Given the description of an element on the screen output the (x, y) to click on. 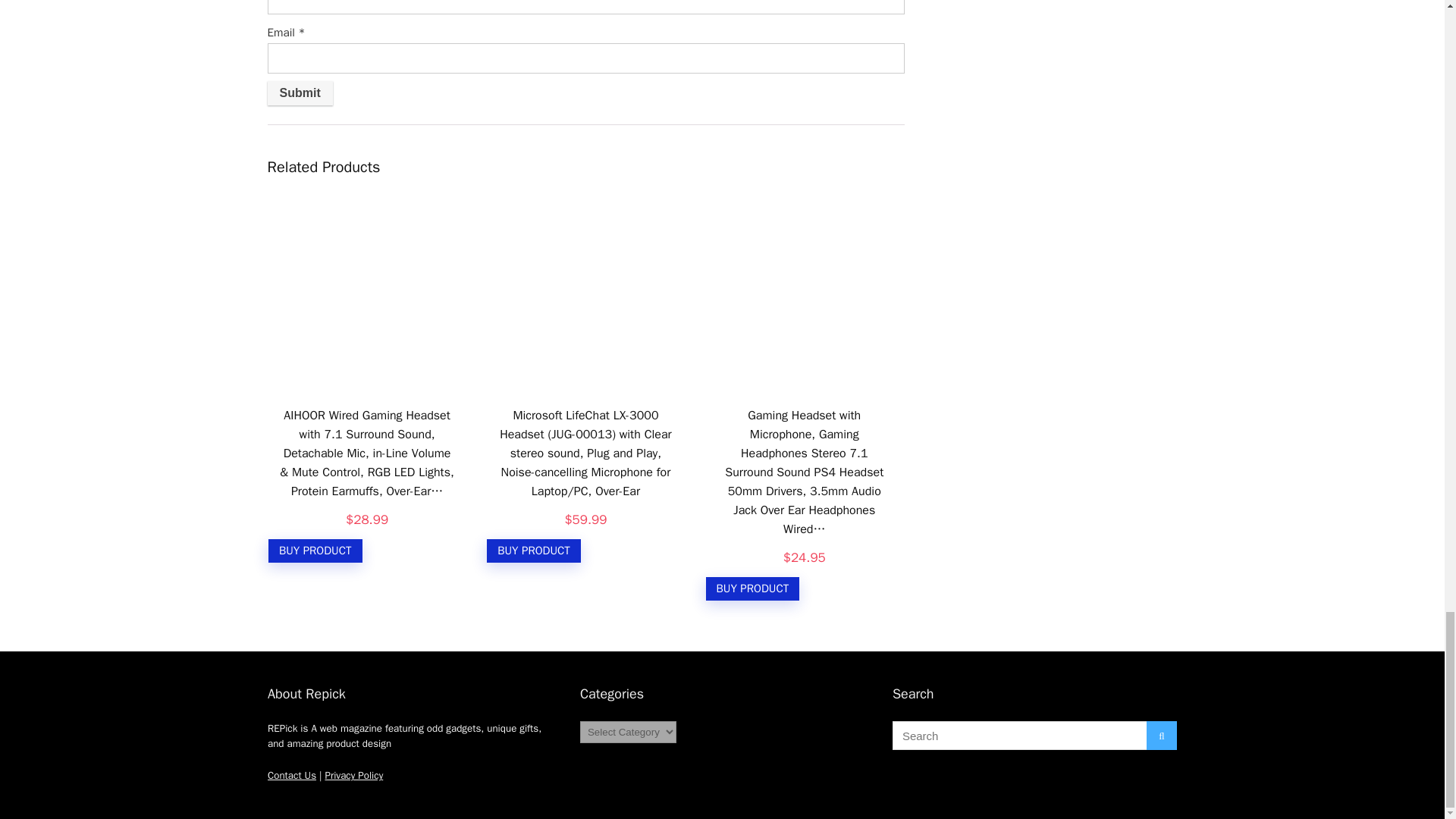
Submit (298, 93)
BUY PRODUCT (314, 550)
Submit (298, 93)
